Given the description of an element on the screen output the (x, y) to click on. 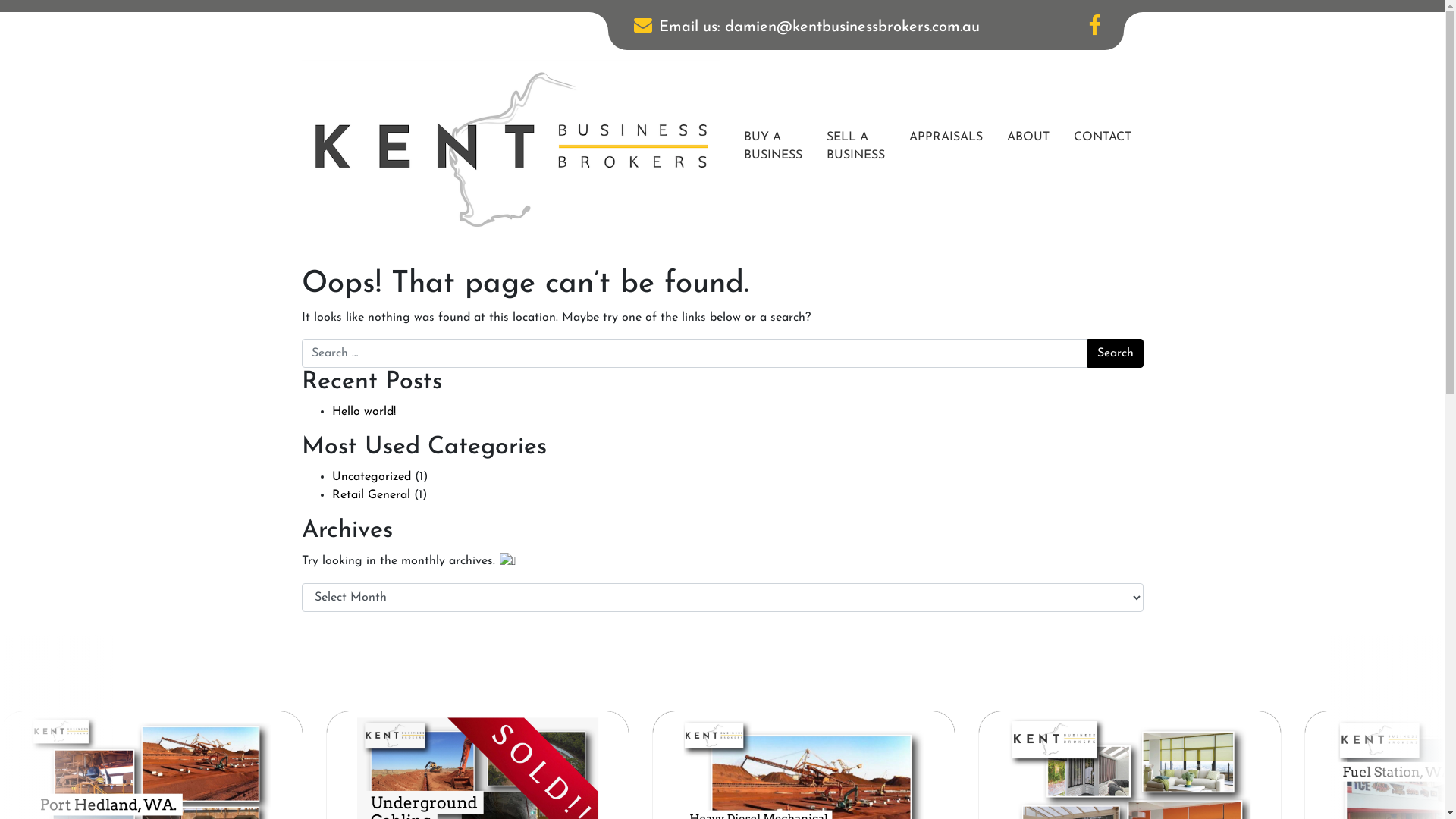
Uncategorized Element type: text (371, 476)
Search Element type: text (1115, 352)
SELL A BUSINESS Element type: text (855, 146)
Email us: damien@kentbusinessbrokers.com.au Element type: text (805, 31)
CONTACT Element type: text (1102, 137)
BUY A BUSINESS Element type: text (772, 146)
APPRAISALS Element type: text (945, 137)
ABOUT Element type: text (1027, 137)
Hello world! Element type: text (363, 411)
Retail General Element type: text (371, 495)
